Given the description of an element on the screen output the (x, y) to click on. 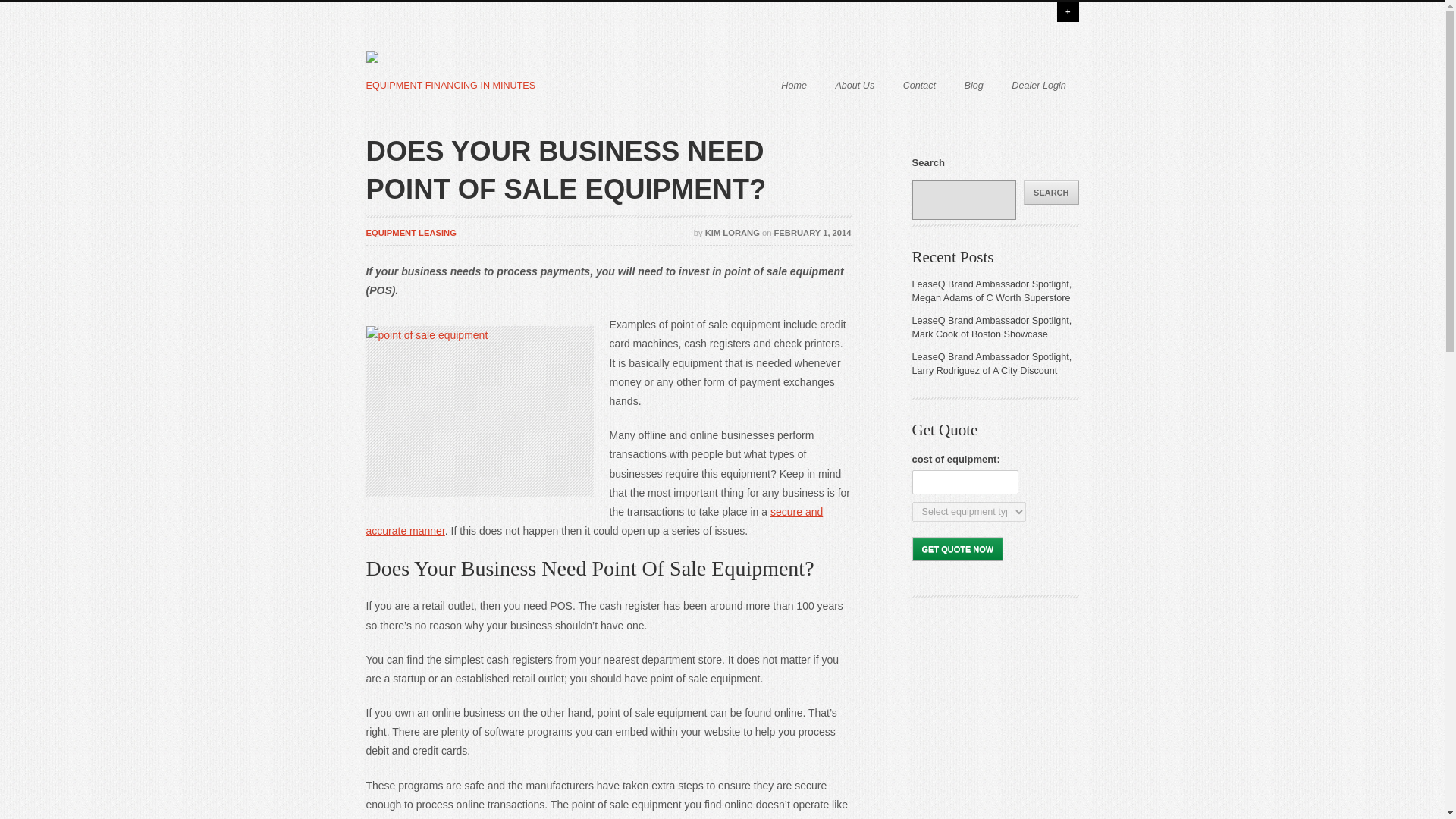
Dealer Login (1038, 83)
secure and accurate manner (593, 521)
EQUIPMENT LEASING (410, 232)
7:35 am (812, 232)
View all posts by Kim Lorang (732, 232)
Blog (973, 83)
Get Quote Now (957, 549)
SEARCH (1050, 192)
FEBRUARY 1, 2014 (812, 232)
Get Quote Now (957, 549)
Home (793, 83)
Contact (919, 83)
